Given the description of an element on the screen output the (x, y) to click on. 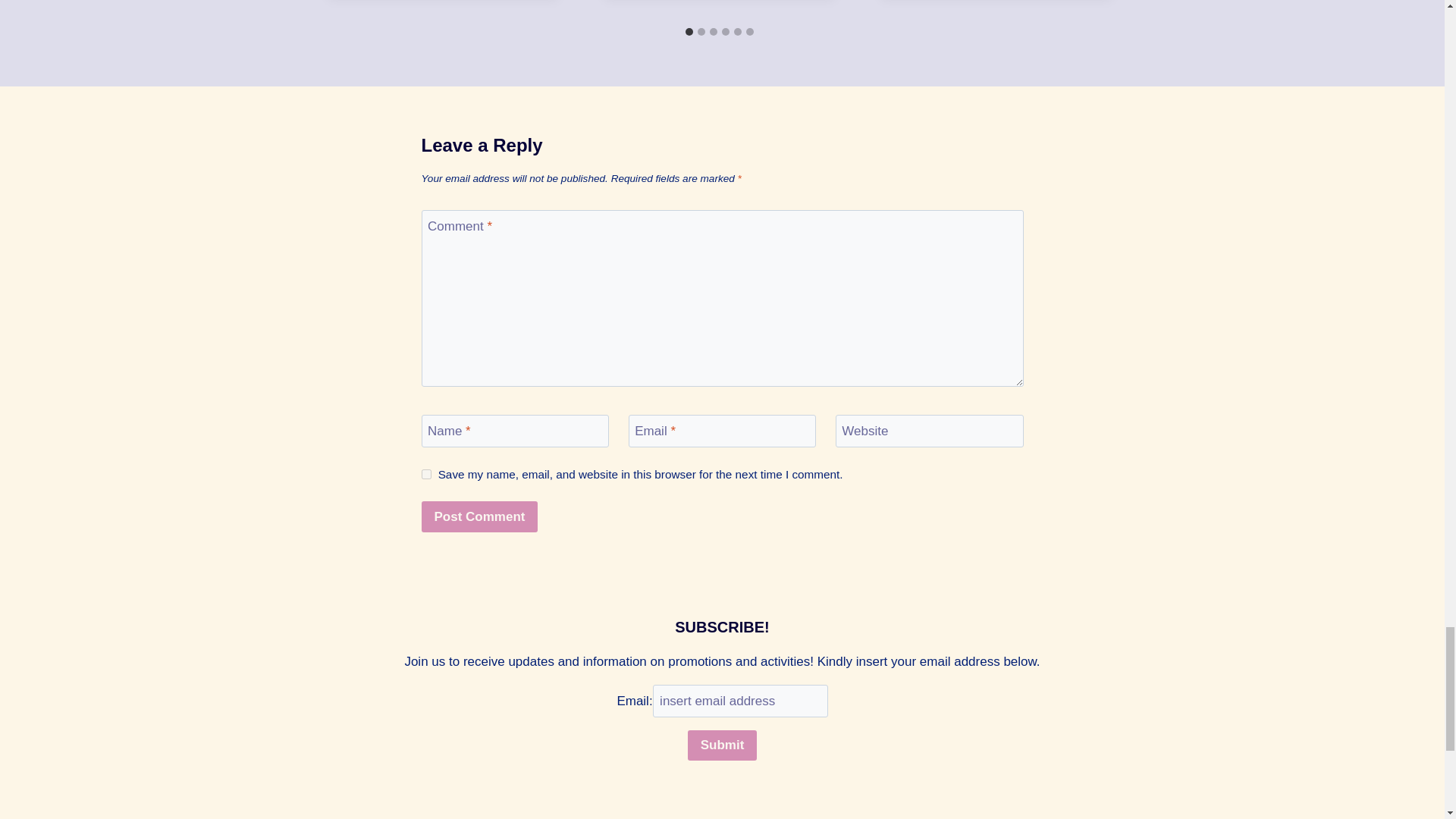
Post Comment (480, 516)
Submit (722, 745)
yes (426, 474)
